Given the description of an element on the screen output the (x, y) to click on. 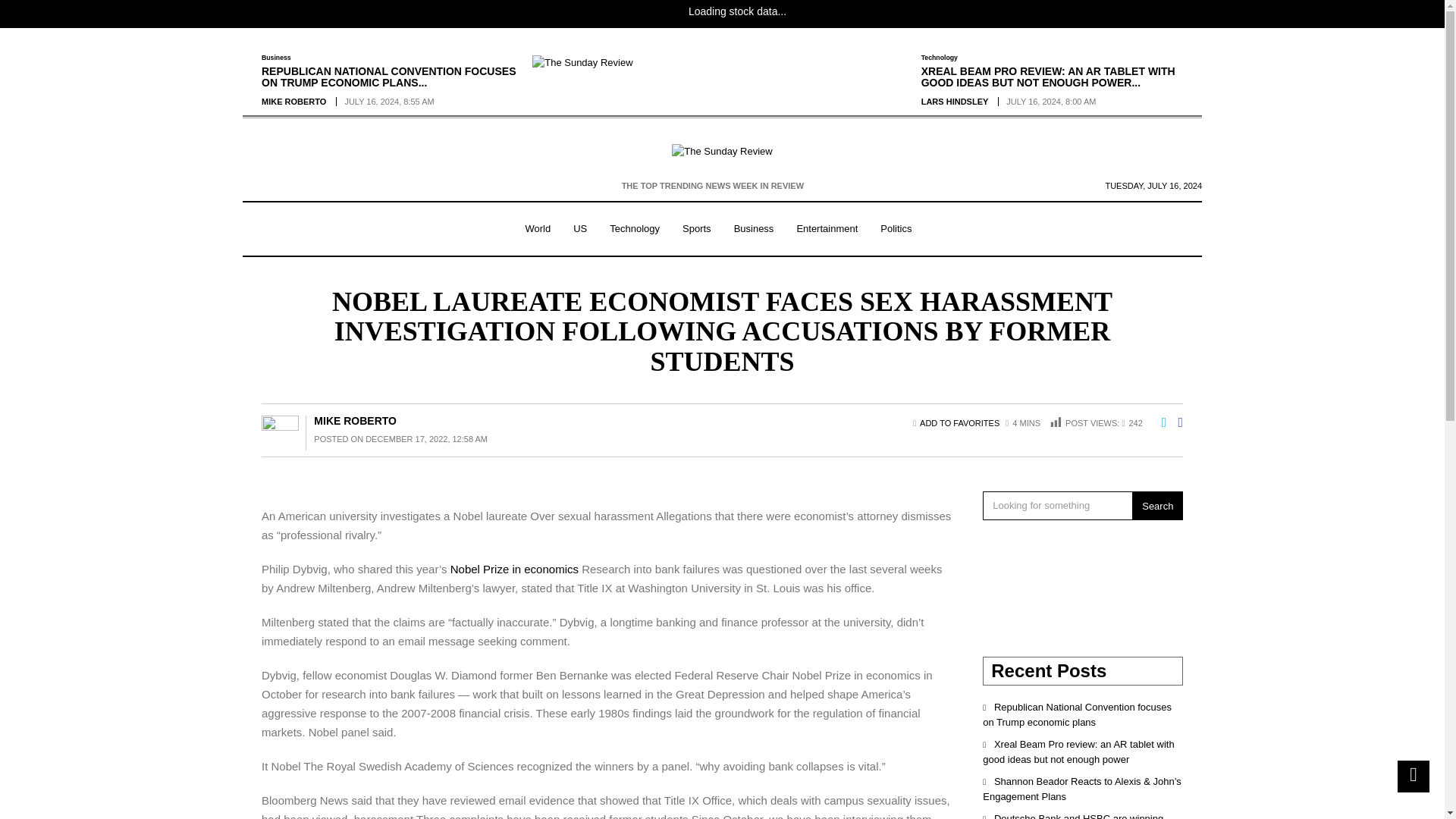
Posts by Mike Roberto (355, 420)
Posts by Mike Roberto (294, 101)
Business (276, 57)
Politics (896, 228)
Business (754, 228)
Search (1157, 505)
Entertainment (826, 228)
Sports (696, 228)
Posts by Lars Hindsley (954, 101)
MIKE ROBERTO (294, 101)
View all posts in Technology (939, 57)
